Given the description of an element on the screen output the (x, y) to click on. 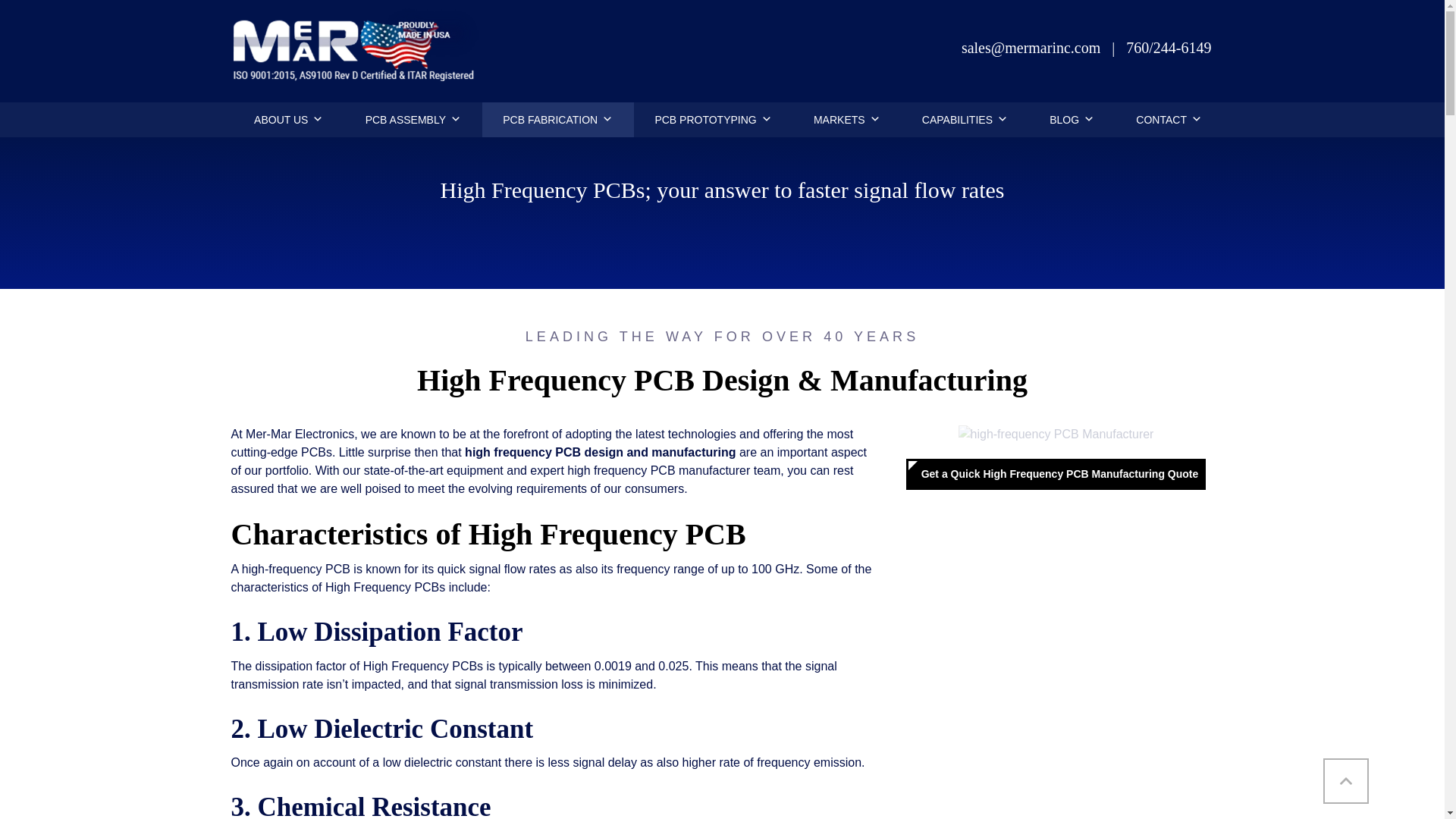
PCB PROTOTYPING (713, 119)
PCB FABRICATION (557, 119)
ABOUT US (288, 119)
Email Us  (1031, 47)
Mermar Inc. (355, 105)
PCB ASSEMBLY (412, 119)
Call us (1168, 47)
